Given the description of an element on the screen output the (x, y) to click on. 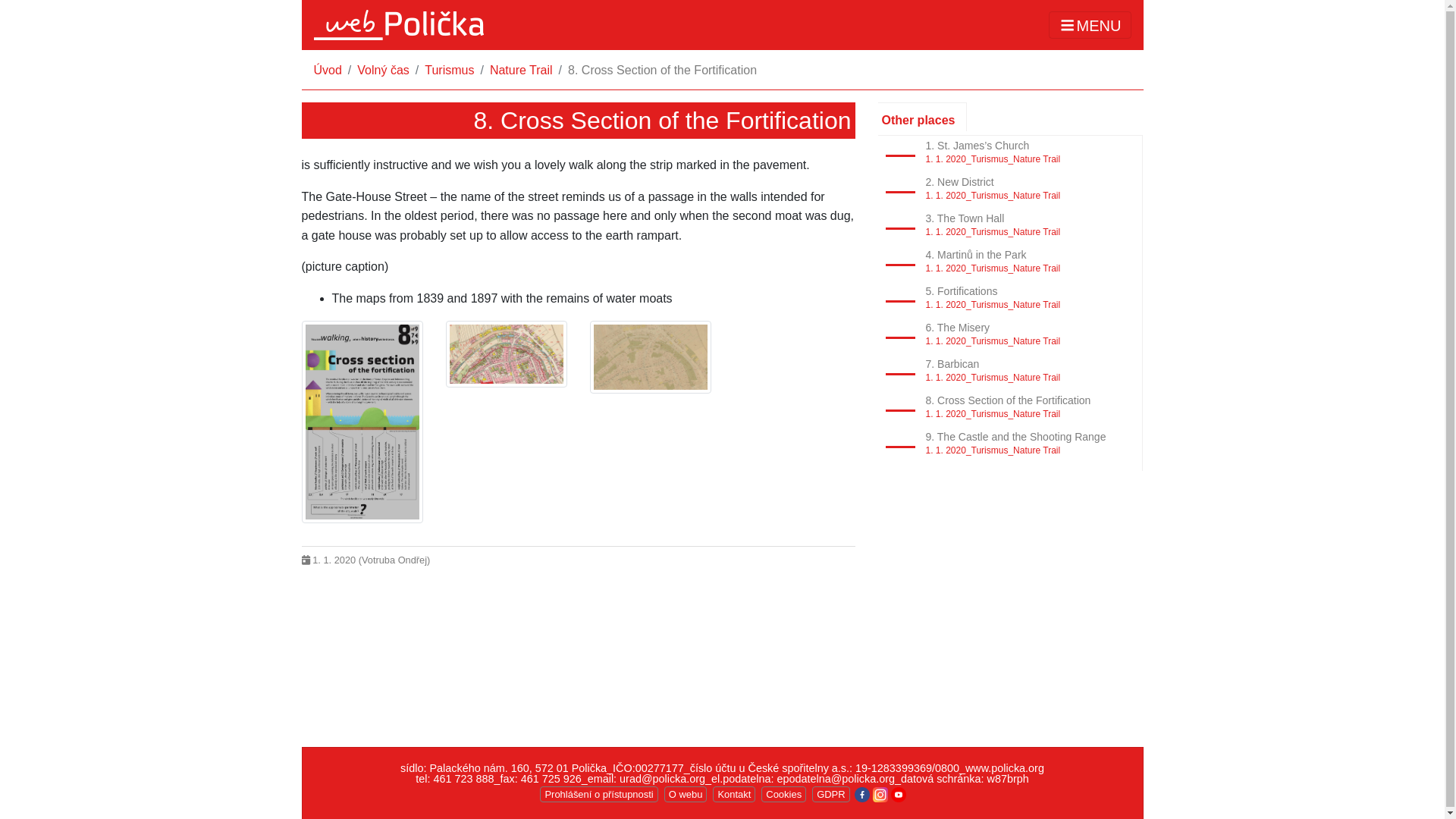
MENU (1089, 25)
